Given the description of an element on the screen output the (x, y) to click on. 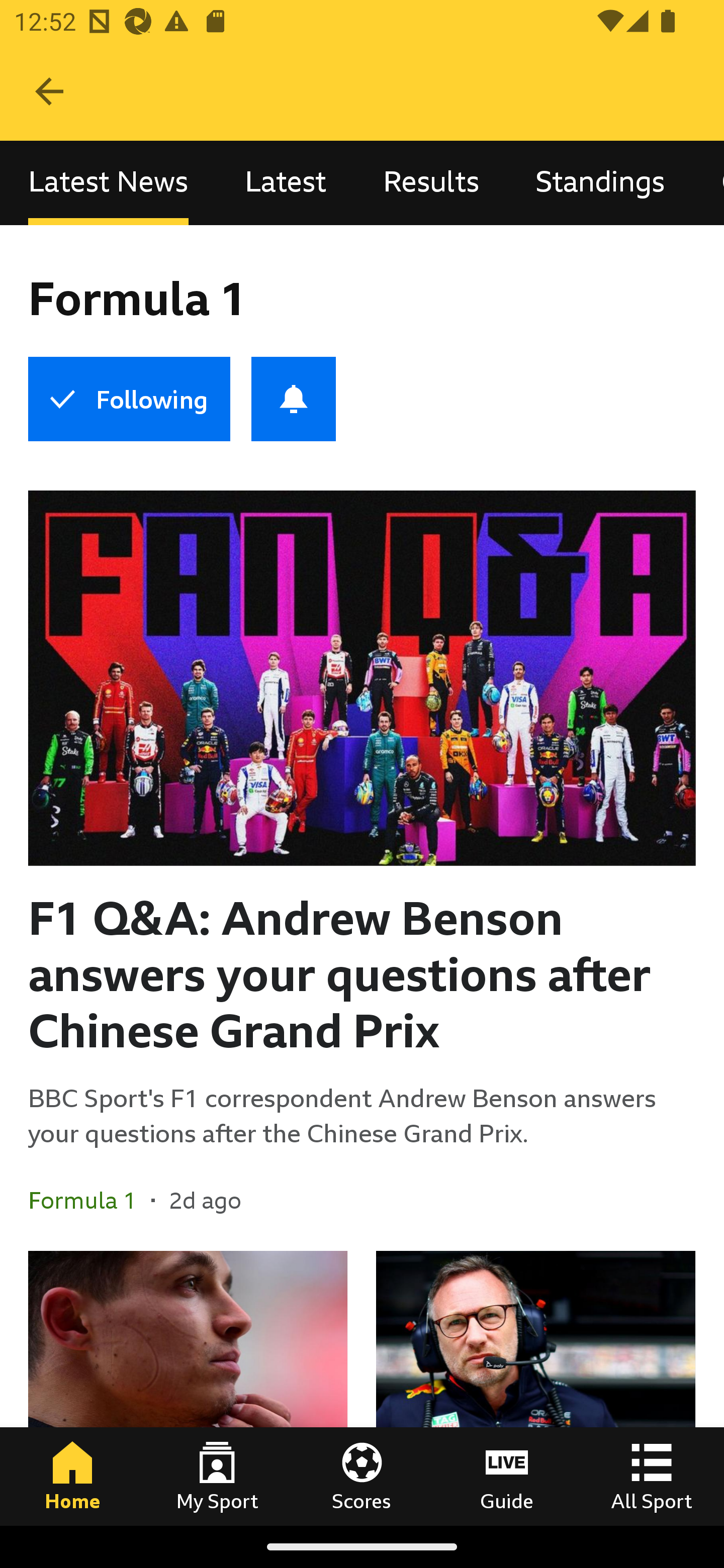
Navigate up (49, 91)
Latest News, selected Latest News (108, 183)
Latest (285, 183)
Results (430, 183)
Standings (600, 183)
Following Formula 1 Following (129, 398)
Push notifications for Formula 1 (293, 398)
Horner criticises Wolff over Verstappen comments (535, 1388)
My Sport (216, 1475)
Scores (361, 1475)
Guide (506, 1475)
All Sport (651, 1475)
